Given the description of an element on the screen output the (x, y) to click on. 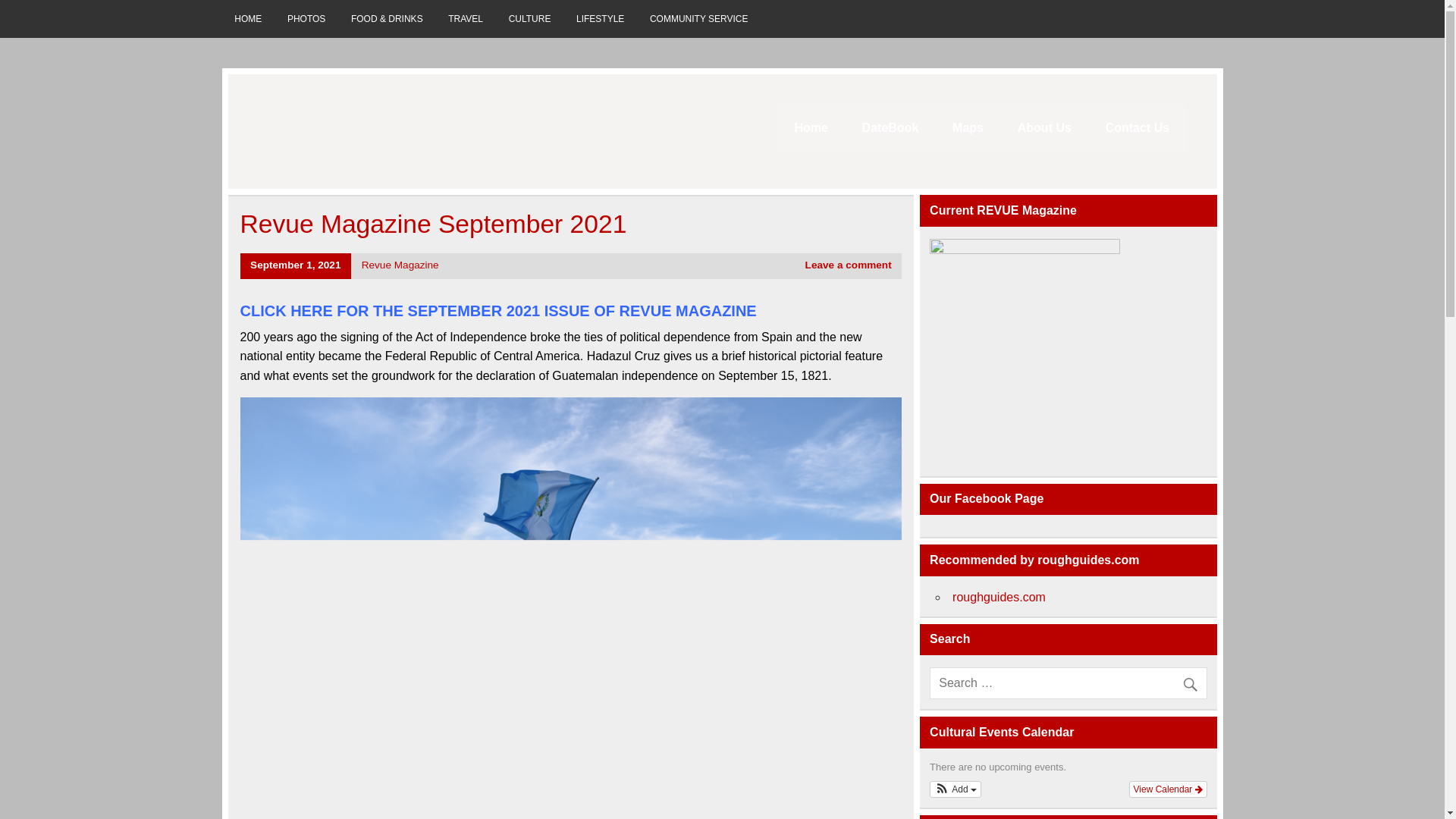
Contact Us (1136, 127)
9:44 am (295, 265)
DateBook (889, 127)
View all posts by Revue Magazine (400, 265)
LIFESTYLE (600, 18)
Revue Magazine (400, 265)
TRAVEL (465, 18)
roughguides.com (998, 596)
Maps (968, 127)
View Calendar (1168, 789)
